Given the description of an element on the screen output the (x, y) to click on. 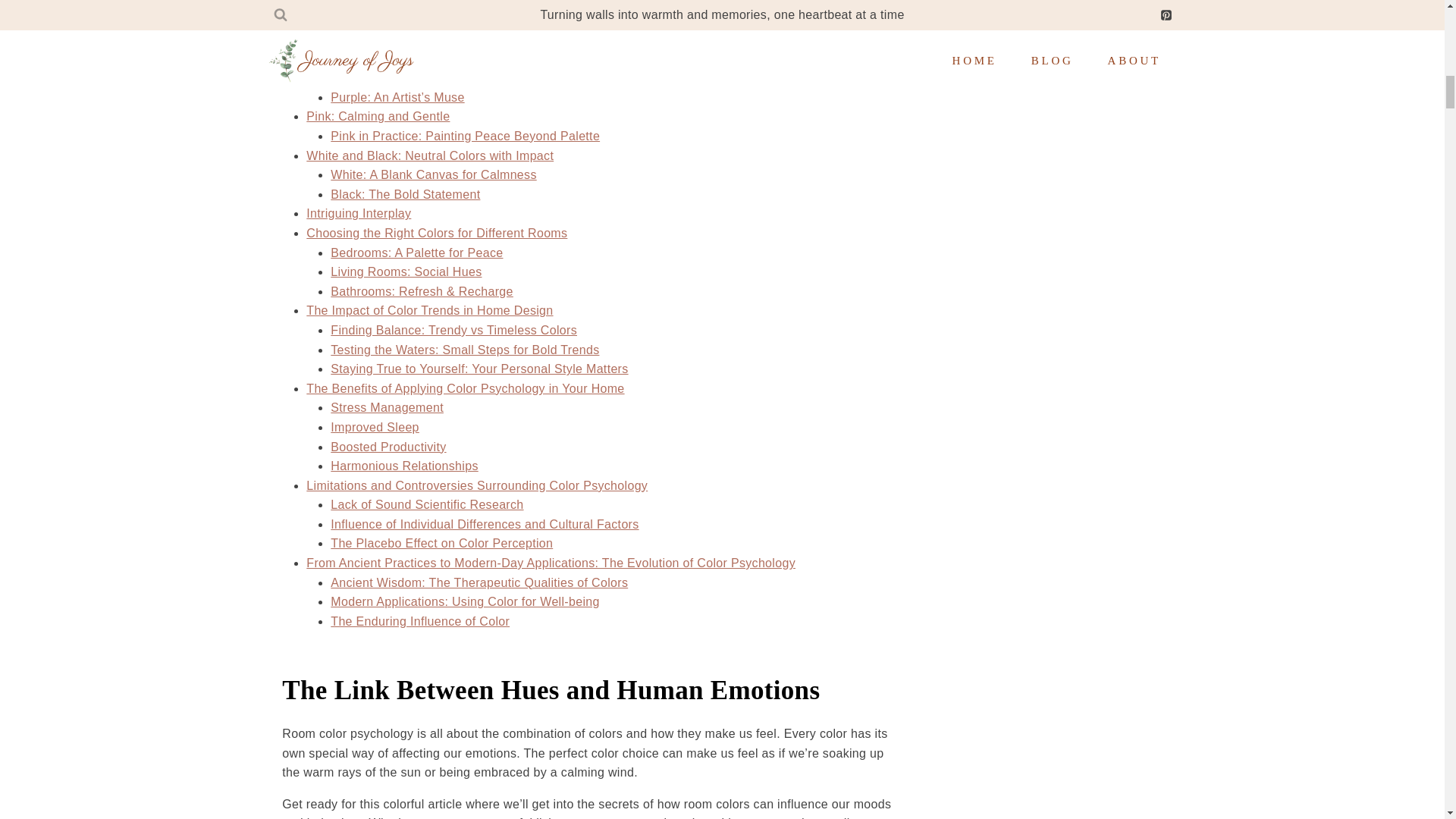
Orange: Energy and Youthfulness (424, 3)
Blue: A Sea of Calmness (399, 58)
Cool Colors: Relax and Soothe (392, 38)
Living Rooms: Social Hues (405, 271)
Intriguing Interplay (357, 213)
Pink in Practice: Painting Peace Beyond Palette (464, 135)
Choosing the Right Colors for Different Rooms (436, 232)
Bedrooms: A Palette for Peace (416, 252)
White and Black: Neutral Colors with Impact (429, 155)
Yellow: Cheerfulness and Focus Enhancement (461, 19)
Pink: Calming and Gentle (377, 115)
Green: Your Peaceful Place (408, 77)
Black: The Bold Statement (405, 194)
White: A Blank Canvas for Calmness (432, 174)
